Given the description of an element on the screen output the (x, y) to click on. 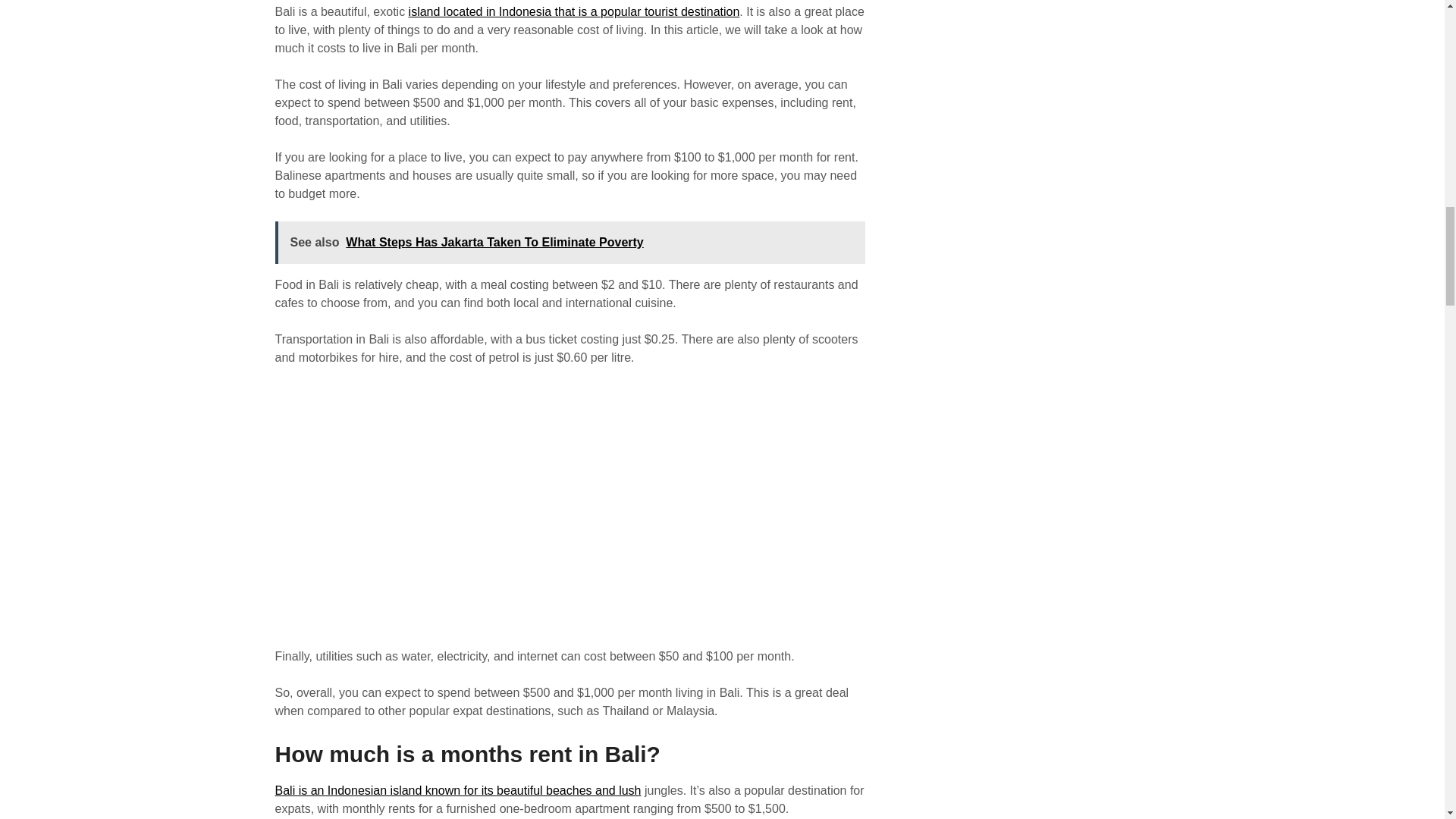
See also  What Steps Has Jakarta Taken To Eliminate Poverty (569, 242)
